Given the description of an element on the screen output the (x, y) to click on. 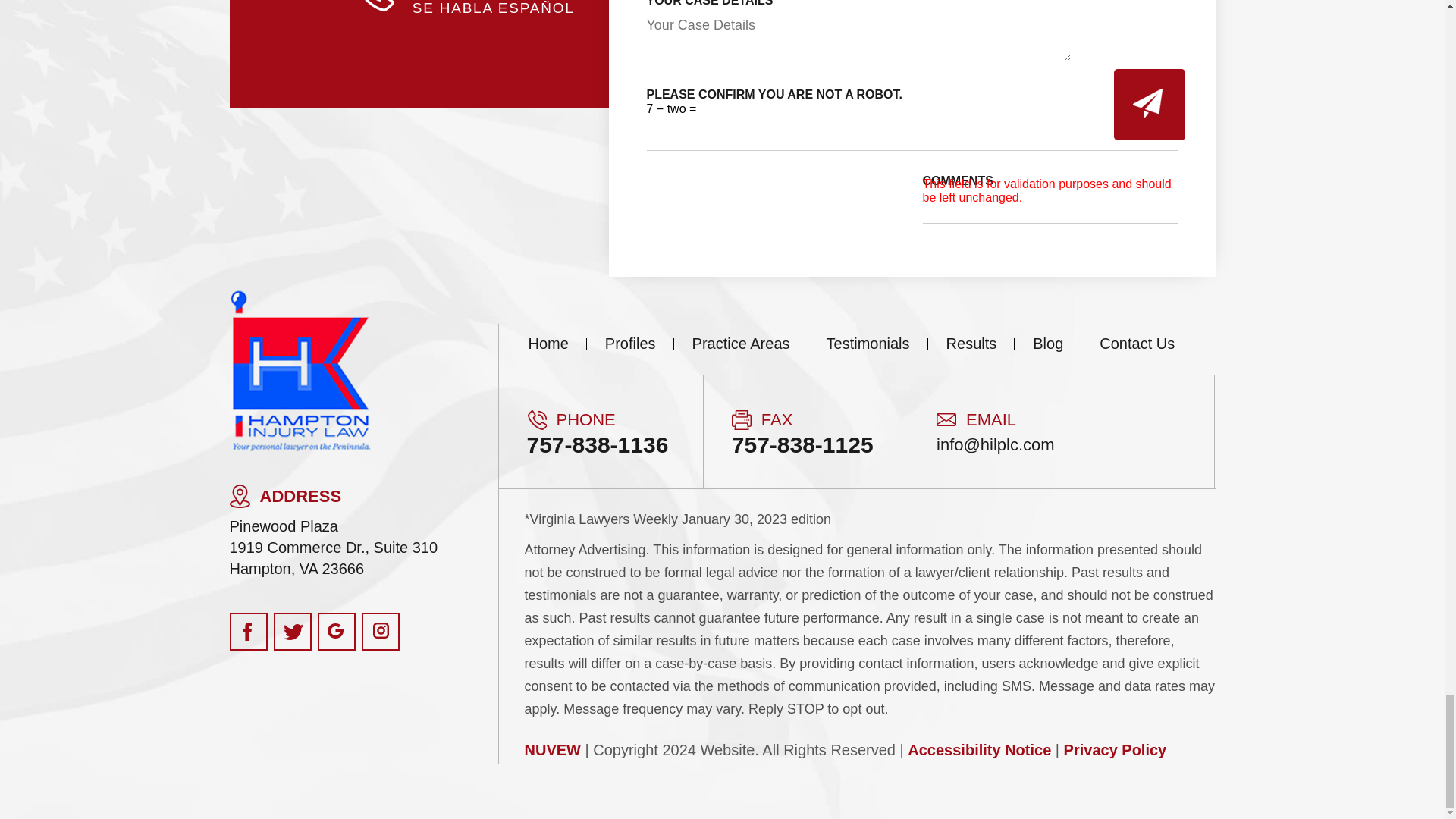
Submit (1149, 104)
